Given the description of an element on the screen output the (x, y) to click on. 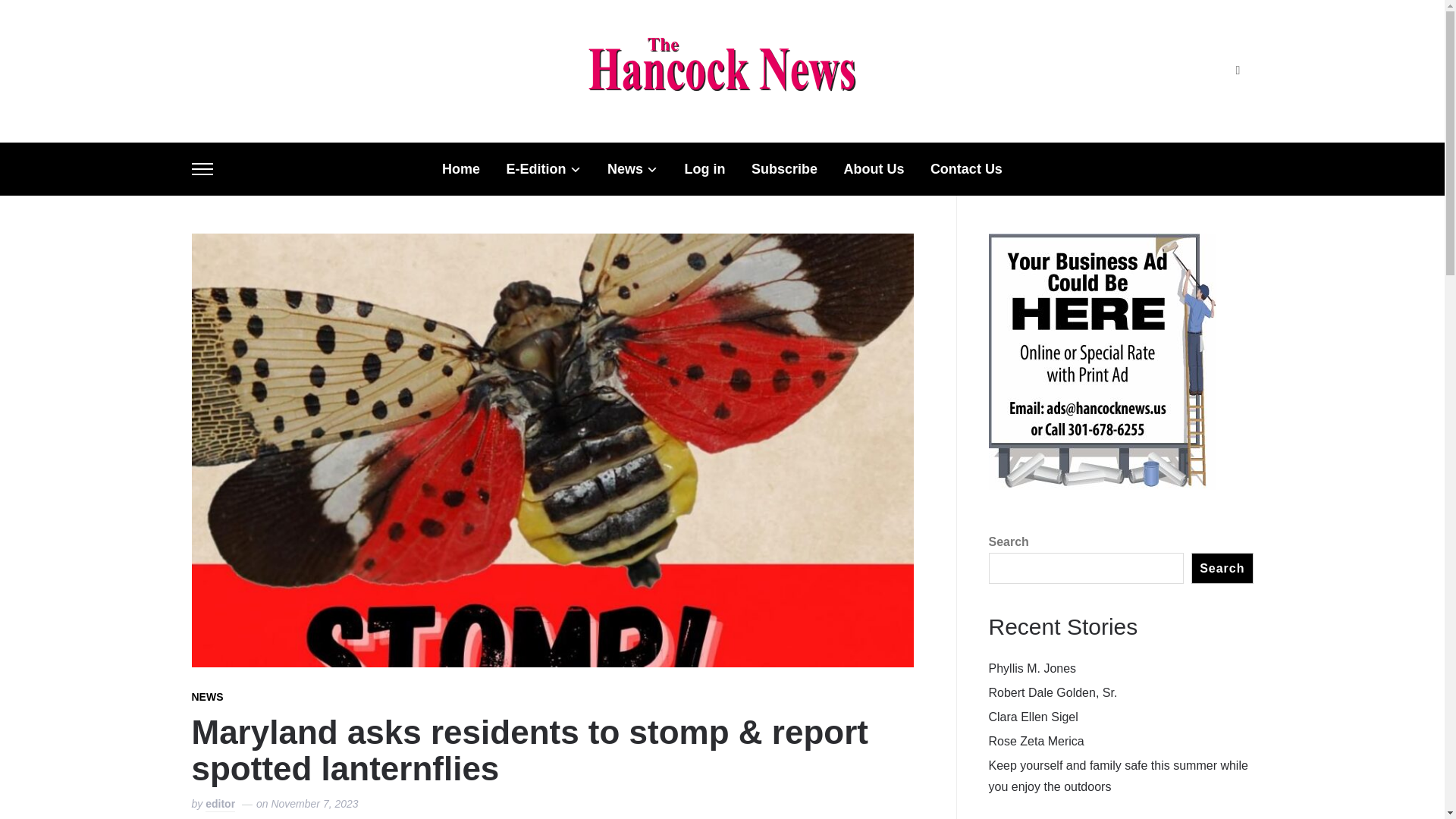
Search (1237, 71)
Posts by editor (219, 804)
